Given the description of an element on the screen output the (x, y) to click on. 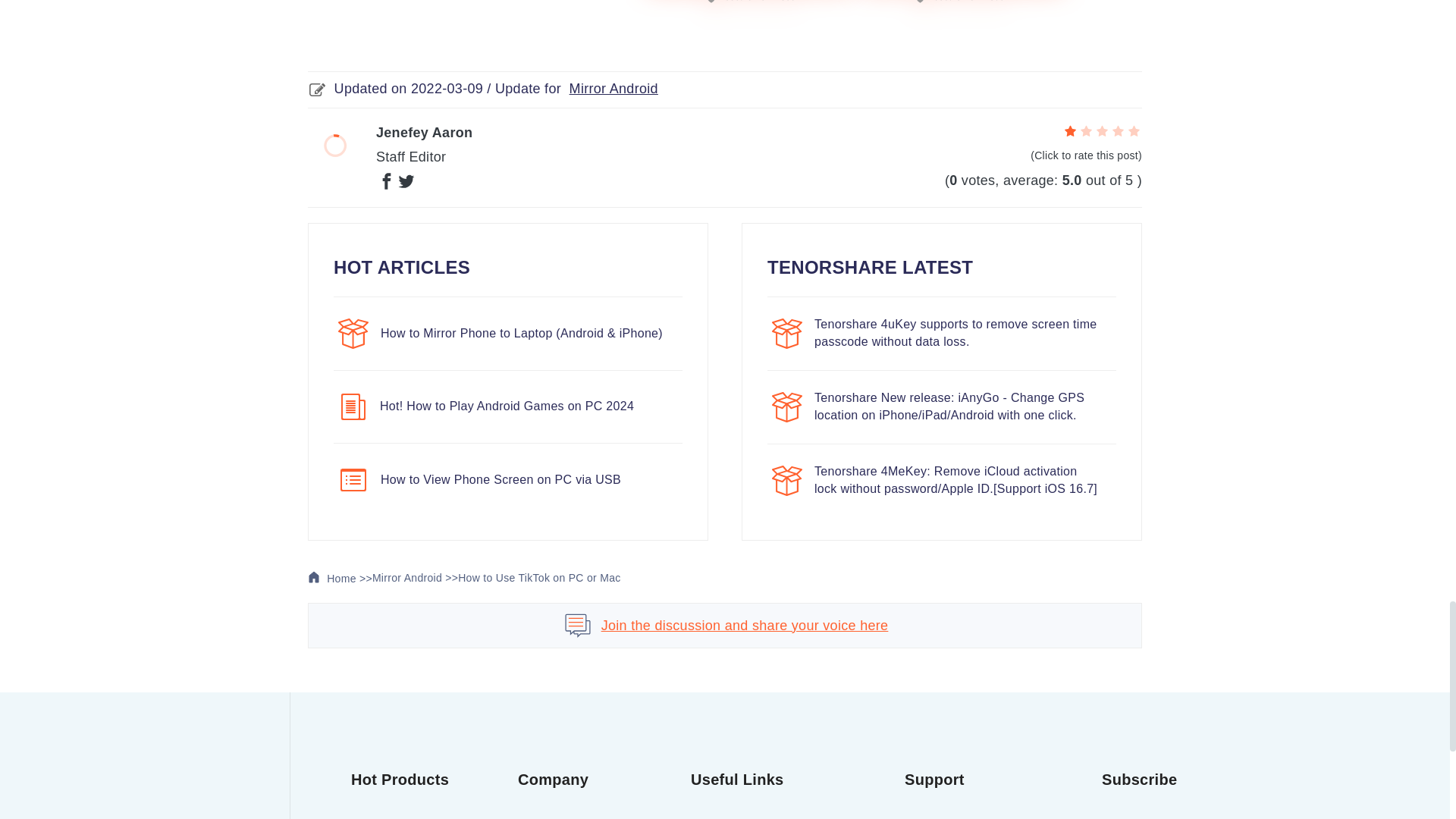
4 (1118, 131)
3 (1102, 131)
1 (1070, 131)
5 (1133, 131)
2 (1086, 131)
